Given the description of an element on the screen output the (x, y) to click on. 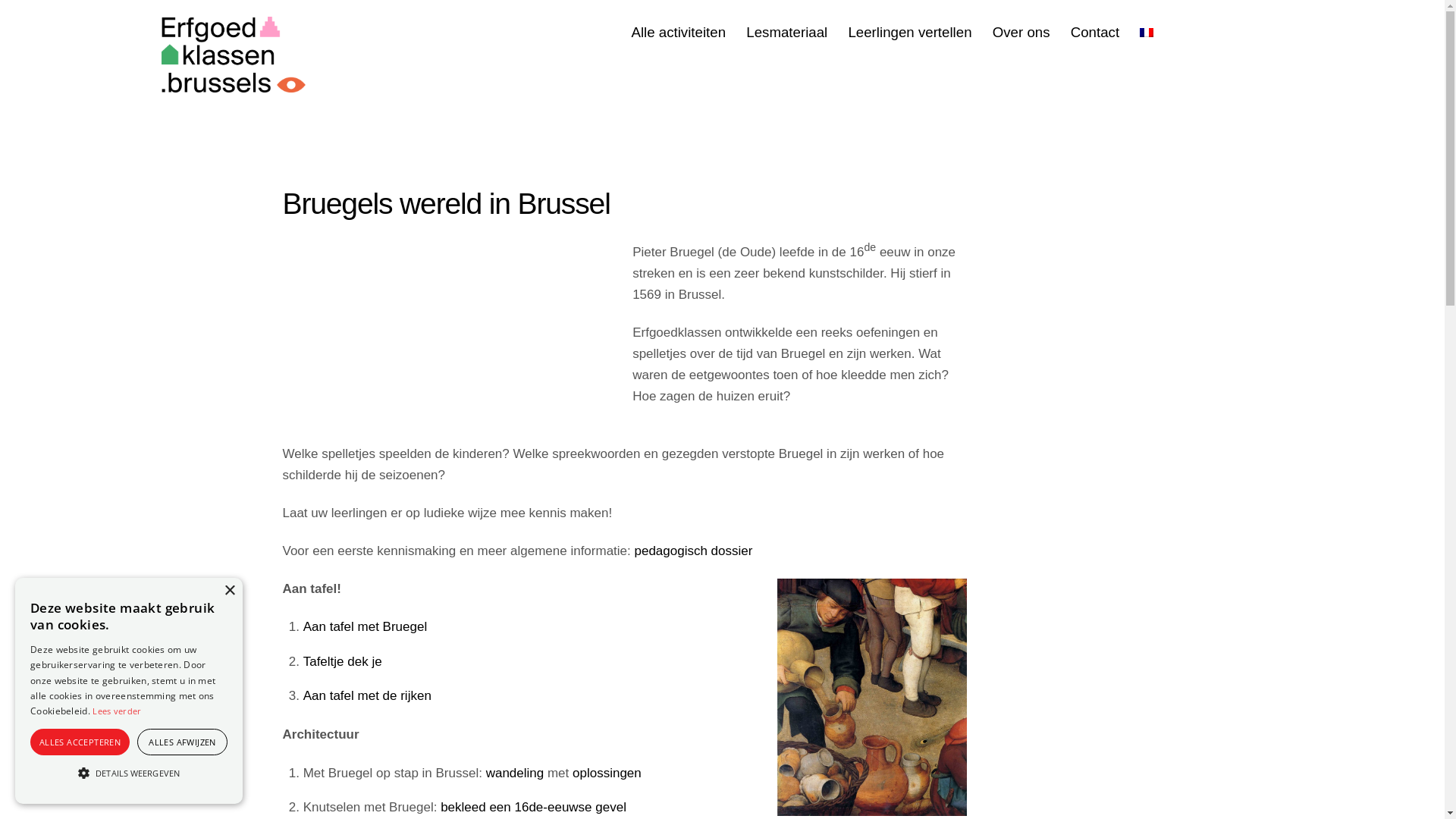
Aan tafel met de rijken Element type: text (367, 695)
wandeling Element type: text (515, 772)
Lees verder Element type: text (116, 710)
Leerlingen vertellen Element type: text (909, 32)
Tafeltje dek je Element type: text (342, 661)
pedagogisch dossier Element type: text (692, 550)
bekleed een 16de-eeuwse gevel Element type: text (533, 807)
oplossingen Element type: text (606, 772)
Lesmateriaal Element type: text (786, 32)
Over ons Element type: text (1020, 32)
Aan tafel met Bruegel Element type: text (364, 626)
Alle activiteiten Element type: text (678, 32)
Contact Element type: text (1094, 32)
